Given the description of an element on the screen output the (x, y) to click on. 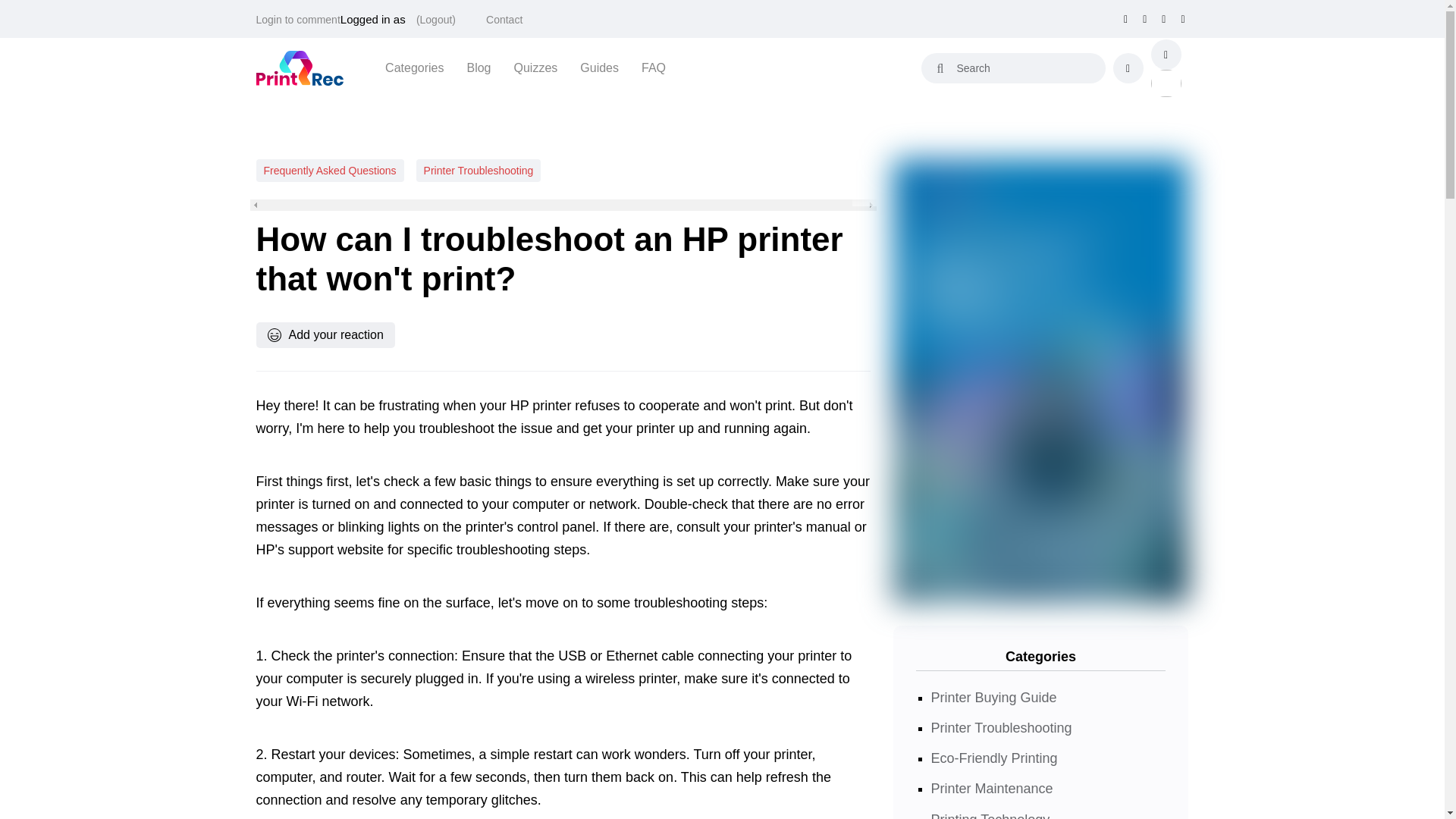
Contact (504, 19)
Login to comment (298, 19)
Categories (414, 67)
